Given the description of an element on the screen output the (x, y) to click on. 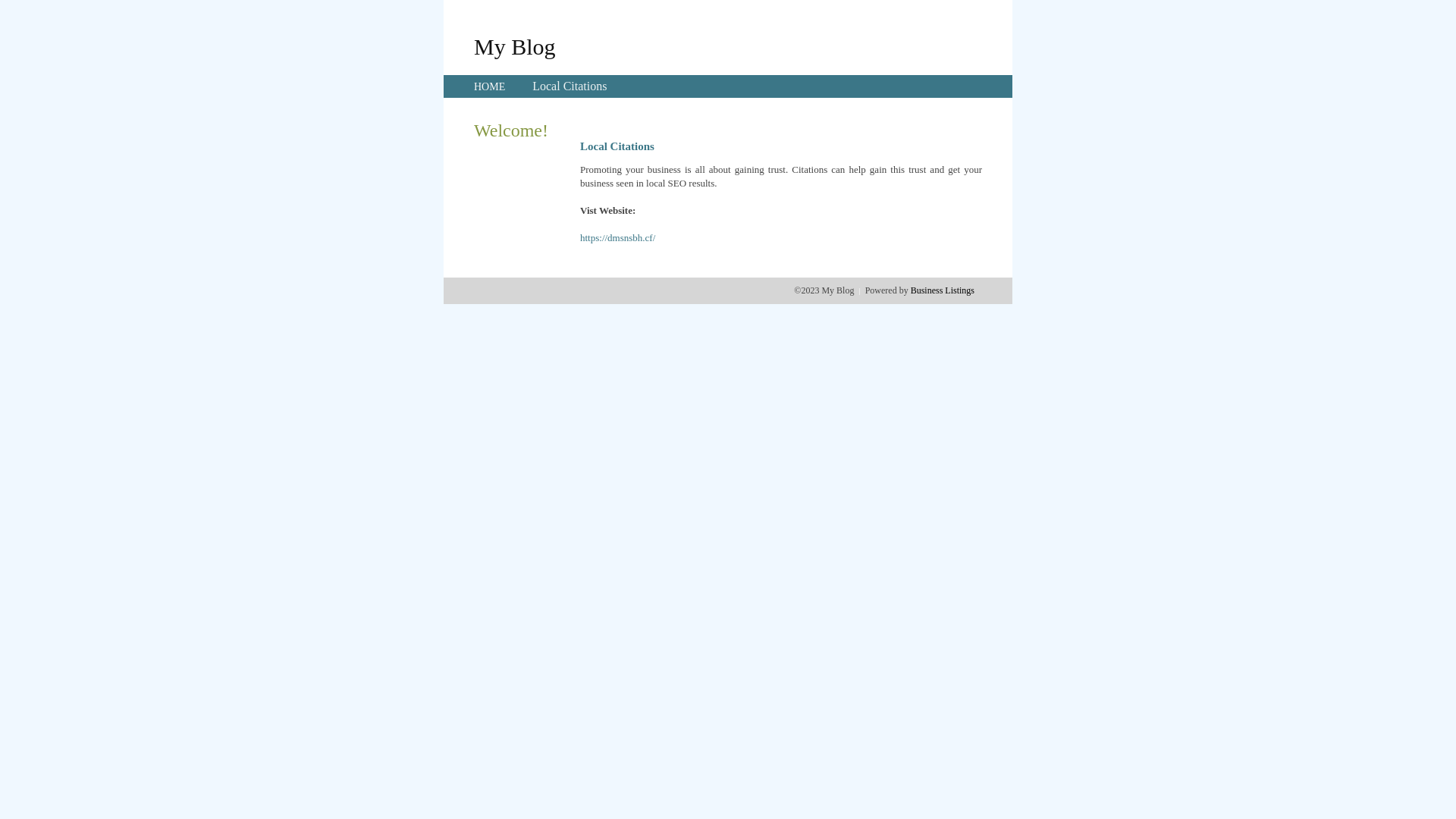
HOME Element type: text (489, 86)
https://dmsnsbh.cf/ Element type: text (617, 237)
My Blog Element type: text (514, 46)
Business Listings Element type: text (942, 290)
Local Citations Element type: text (569, 85)
